Given the description of an element on the screen output the (x, y) to click on. 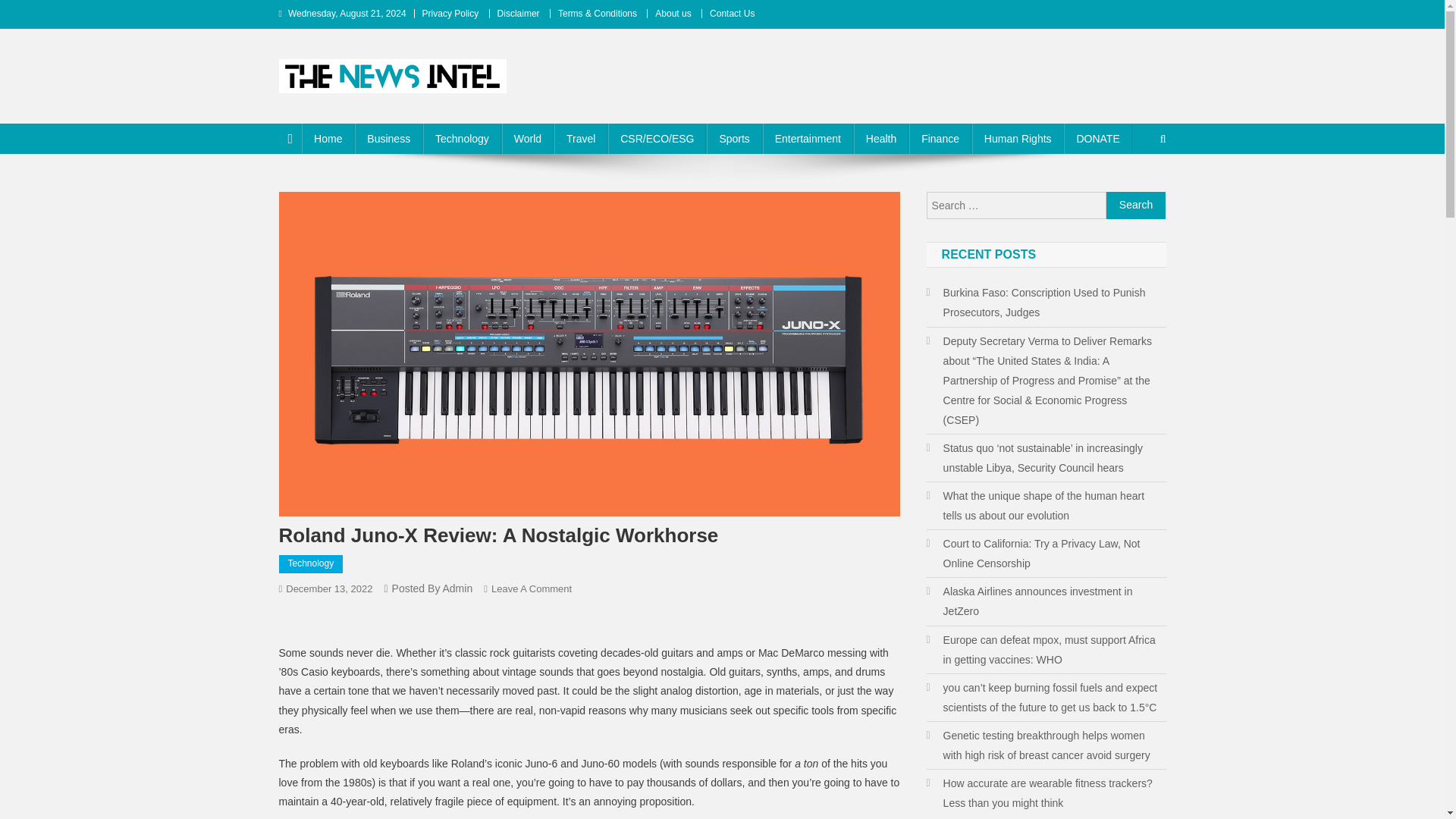
Search (1136, 205)
Technology (461, 138)
Human Rights (1018, 138)
Entertainment (807, 138)
Search (1136, 205)
Disclaimer (518, 13)
Sports (733, 138)
Search (1133, 189)
About us (672, 13)
Business (388, 138)
